Given the description of an element on the screen output the (x, y) to click on. 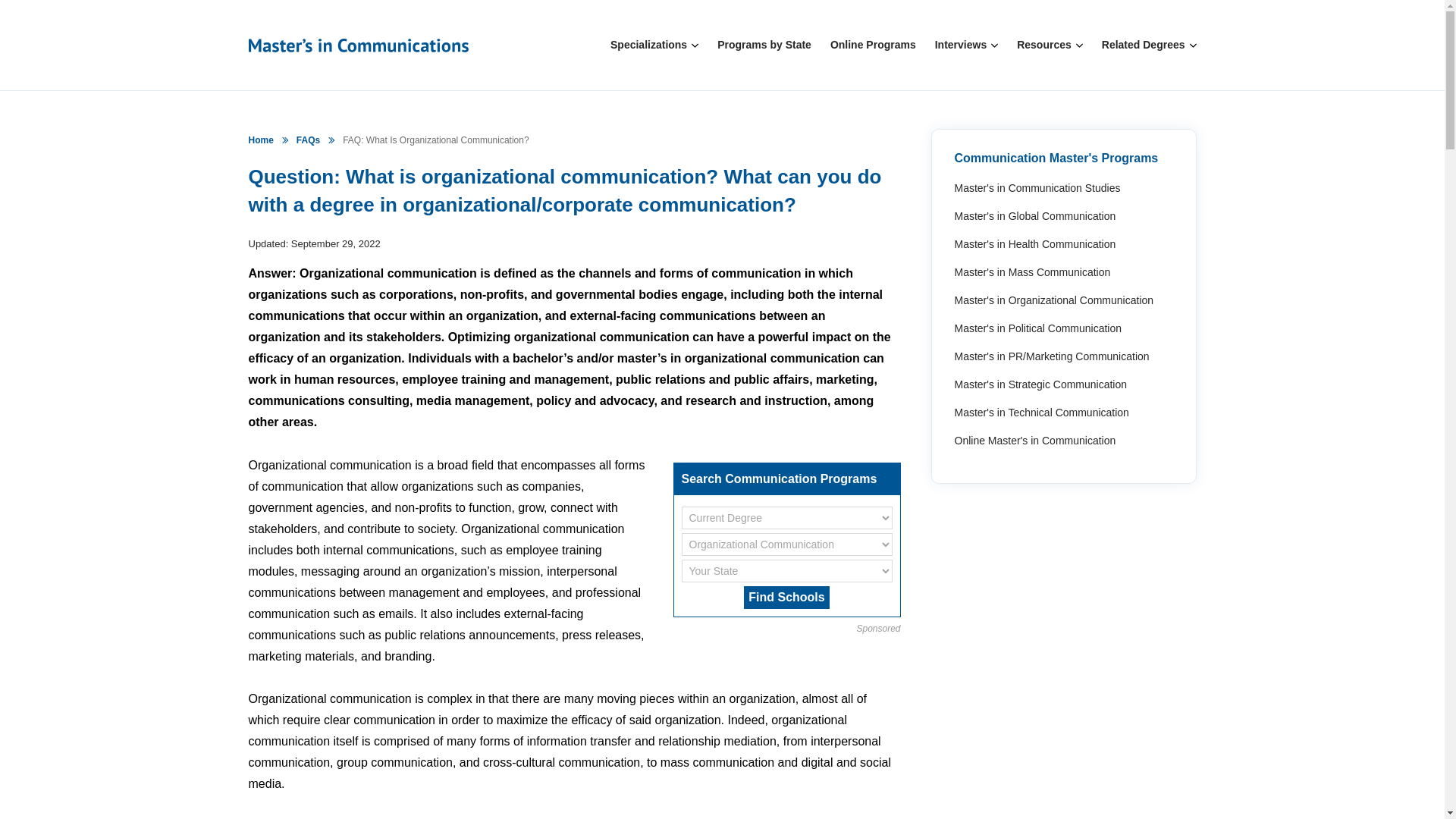
Specializations (648, 45)
Resources (1043, 45)
Interviews (960, 45)
Find Schools (786, 597)
FAQs (308, 140)
FAQs (308, 140)
Home (260, 140)
MastersinCommunications.com (260, 140)
Online Programs (872, 45)
Related Degrees (1143, 45)
